Given the description of an element on the screen output the (x, y) to click on. 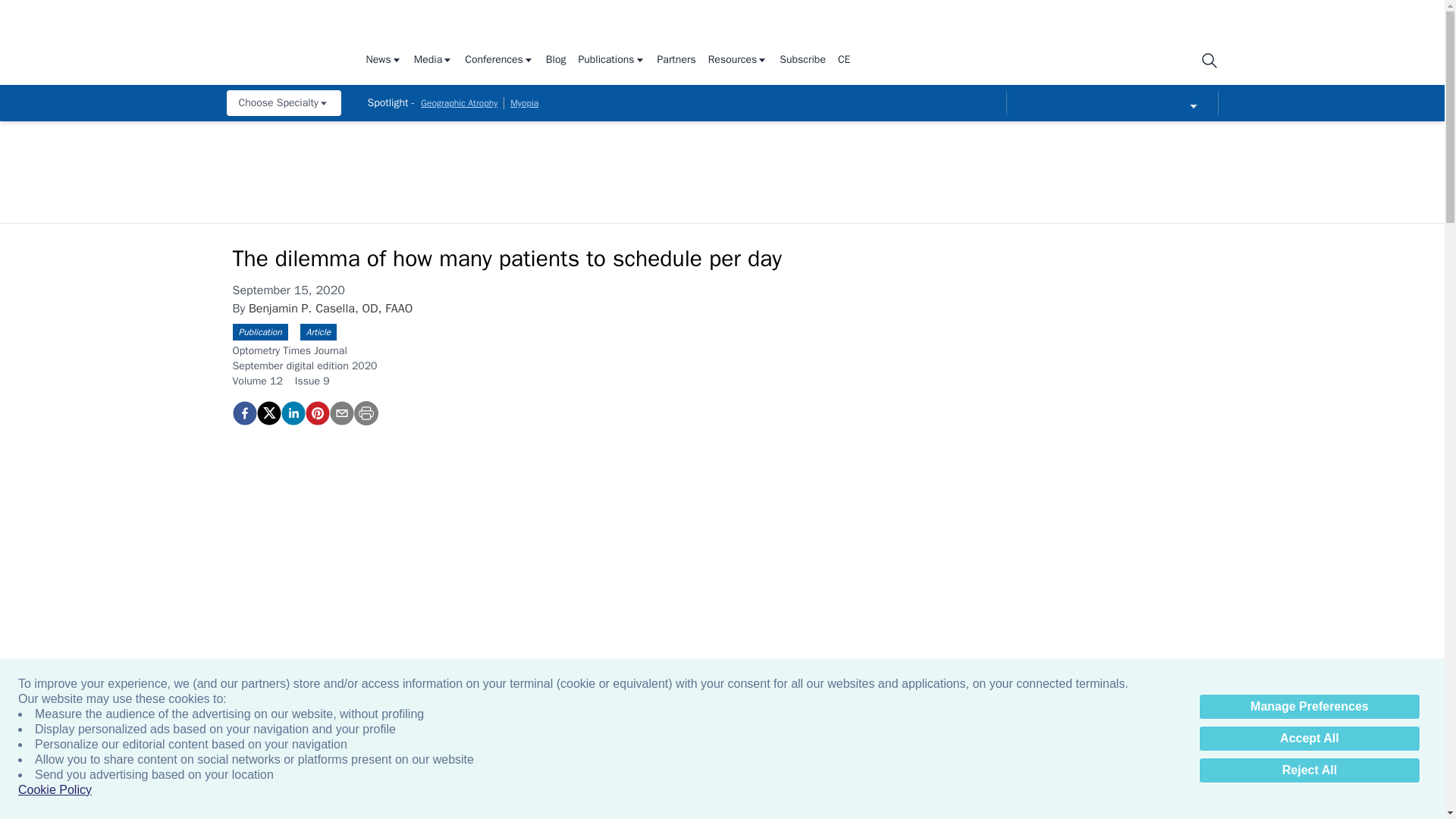
Blog (556, 60)
News (383, 60)
Publications (611, 60)
Conferences (499, 60)
Partners (676, 60)
Reject All (1309, 769)
Resources (737, 60)
Media (432, 60)
The dilemma of how many patients to schedule per day (316, 413)
Subscribe (801, 60)
